Given the description of an element on the screen output the (x, y) to click on. 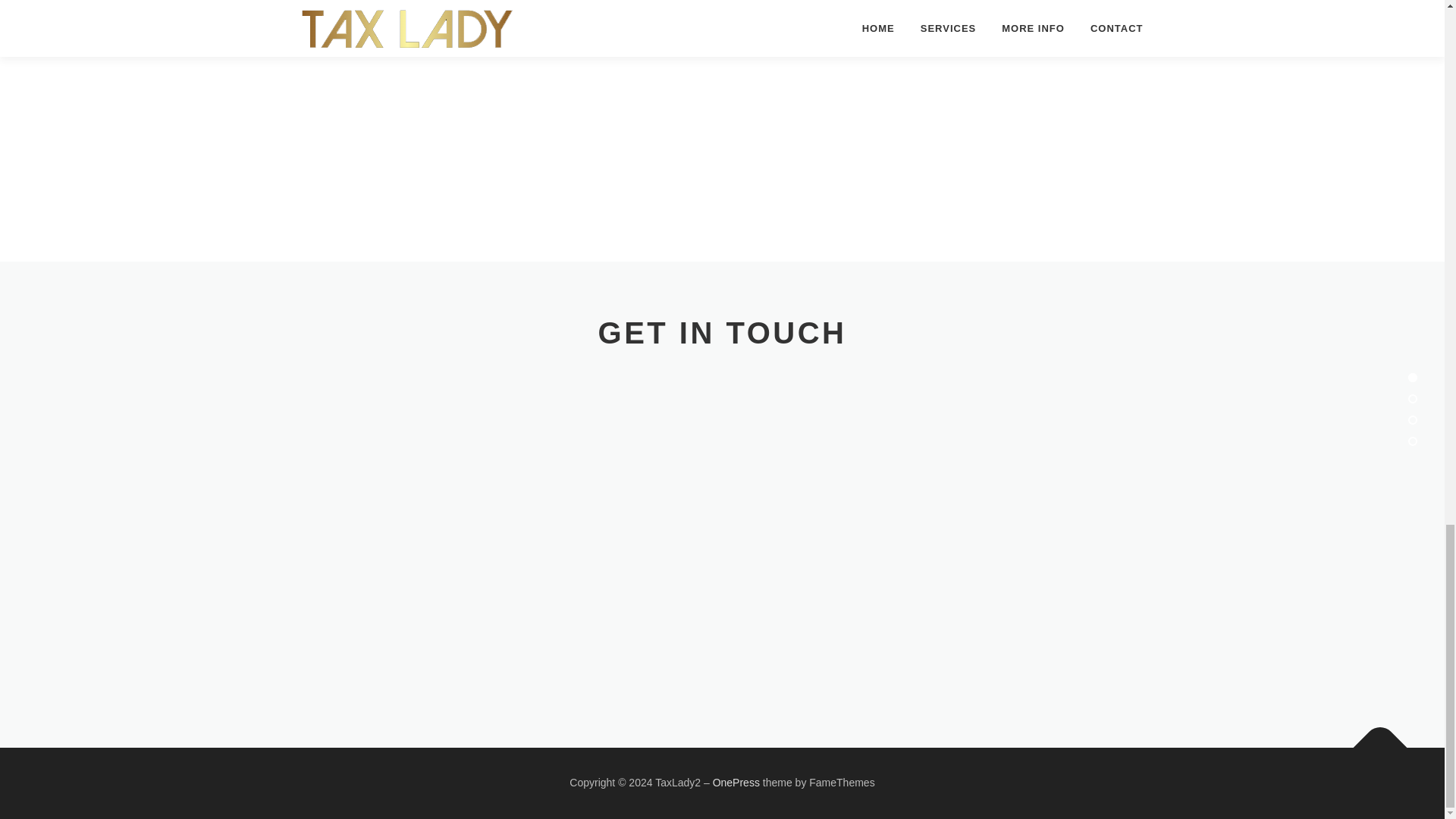
Back To Top (1372, 740)
OnePress (736, 782)
